Given the description of an element on the screen output the (x, y) to click on. 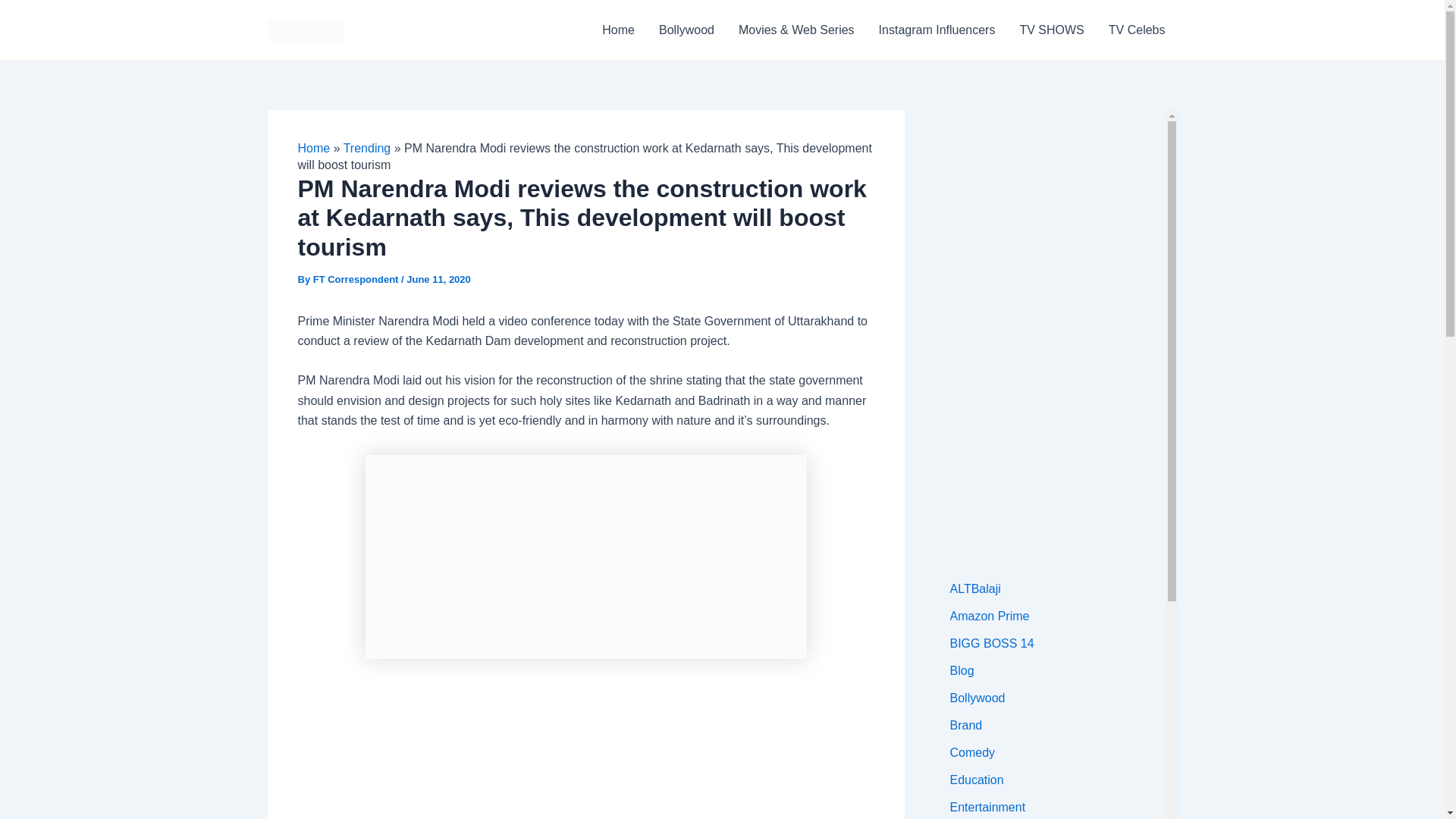
Home (313, 147)
Instagram Influencers (936, 30)
Advertisement (585, 757)
View all posts by FT Correspondent (357, 279)
Home (617, 30)
FT Correspondent (357, 279)
TV SHOWS (1051, 30)
Trending (367, 147)
Bollywood (686, 30)
TV Celebs (1136, 30)
